Given the description of an element on the screen output the (x, y) to click on. 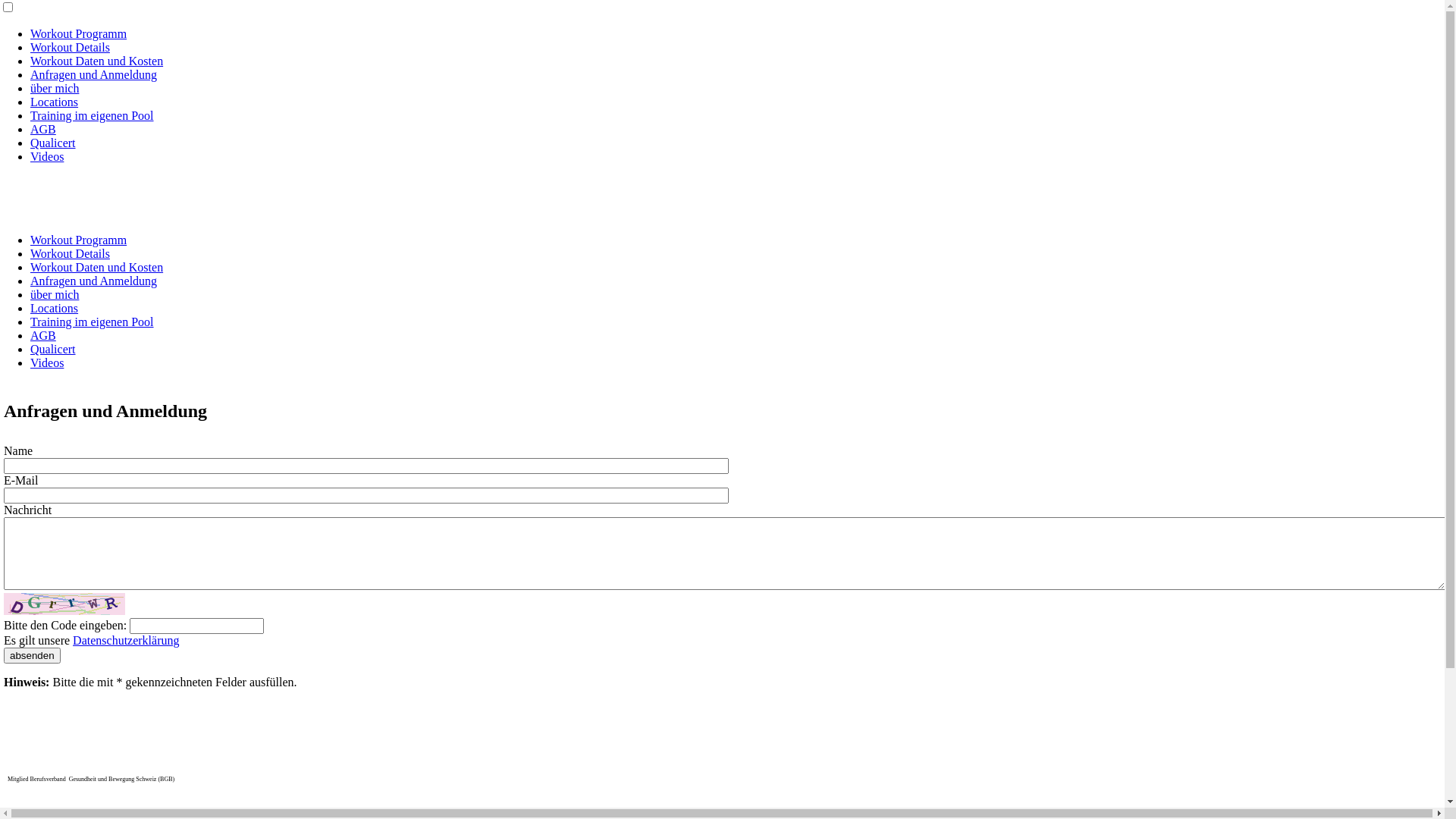
Videos Element type: text (46, 362)
Workout Details Element type: text (69, 46)
Workout Details Element type: text (69, 253)
Qualicert Element type: text (52, 142)
Locations Element type: text (54, 101)
absenden Element type: text (31, 655)
AGB Element type: text (43, 335)
Workout Daten und Kosten Element type: text (96, 60)
Training im eigenen Pool Element type: text (91, 115)
AGB Element type: text (43, 128)
Anfragen und Anmeldung Element type: text (93, 74)
Workout Programm Element type: text (78, 239)
Workout Programm Element type: text (78, 33)
Qualicert Element type: text (52, 348)
Locations Element type: text (54, 307)
Workout Daten und Kosten Element type: text (96, 266)
Anfragen und Anmeldung Element type: text (93, 280)
Training im eigenen Pool Element type: text (91, 321)
Videos Element type: text (46, 156)
